Given the description of an element on the screen output the (x, y) to click on. 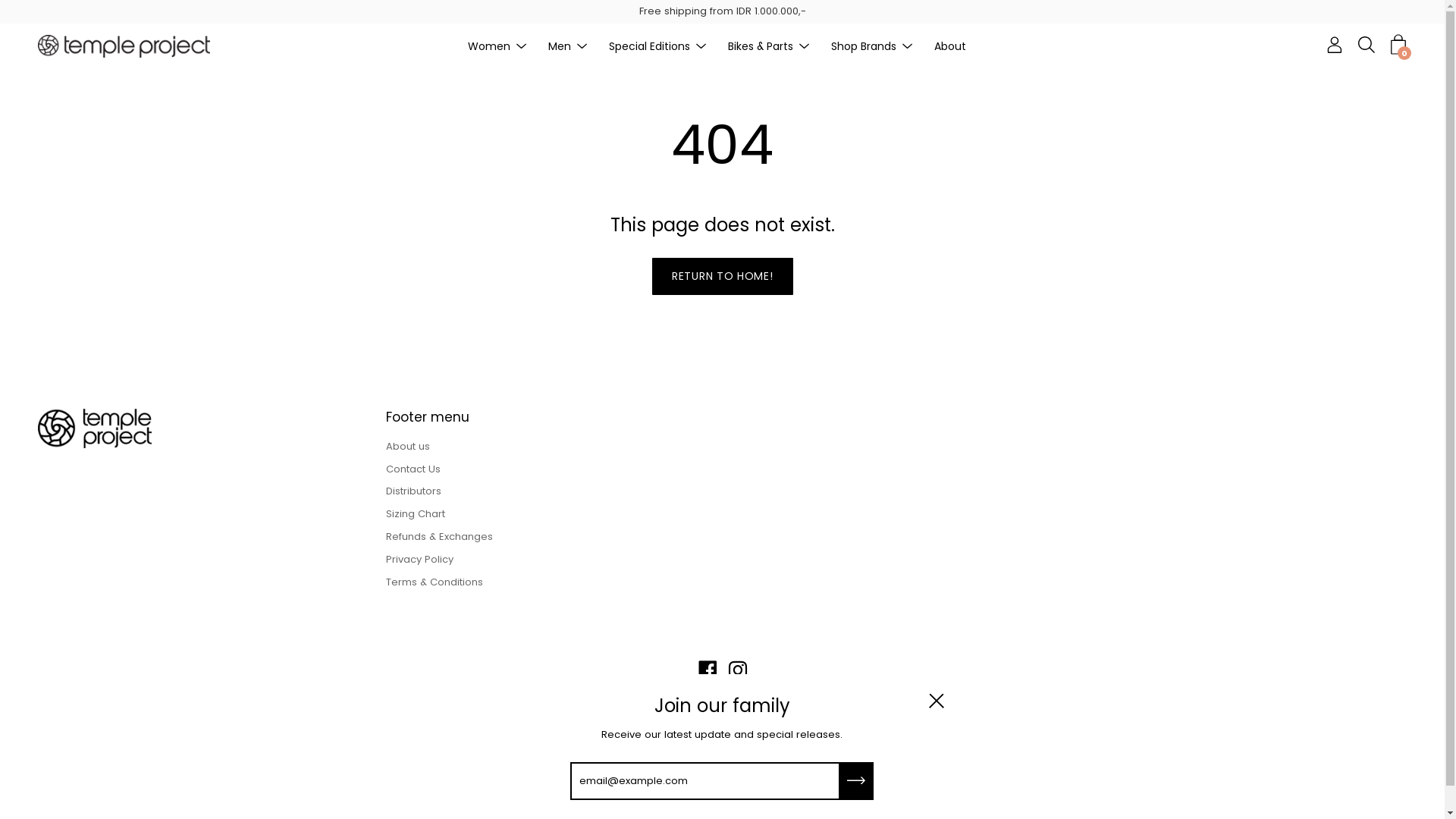
Special Editions Element type: text (648, 45)
About Element type: text (950, 45)
Men Element type: text (558, 45)
Show submenu Element type: text (581, 45)
Show submenu Element type: text (804, 45)
About us Element type: text (407, 446)
Show submenu Element type: text (520, 45)
Contact Us Element type: text (412, 468)
Footer menu Element type: text (427, 417)
0 Element type: text (1398, 44)
Distributors Element type: text (413, 490)
Terms & Conditions Element type: text (434, 581)
Temple Project Indonesia Element type: text (690, 708)
Show submenu Element type: text (907, 45)
Refunds & Exchanges Element type: text (438, 536)
Women Element type: text (488, 45)
Shopify Element type: text (827, 708)
Show submenu Element type: text (701, 45)
Open search bar Element type: text (1366, 44)
Privacy Policy Element type: text (419, 559)
RETURN TO HOME! Element type: text (722, 275)
Shop Brands Element type: text (863, 45)
Bikes & Parts Element type: text (760, 45)
Sizing Chart Element type: text (415, 513)
